Given the description of an element on the screen output the (x, y) to click on. 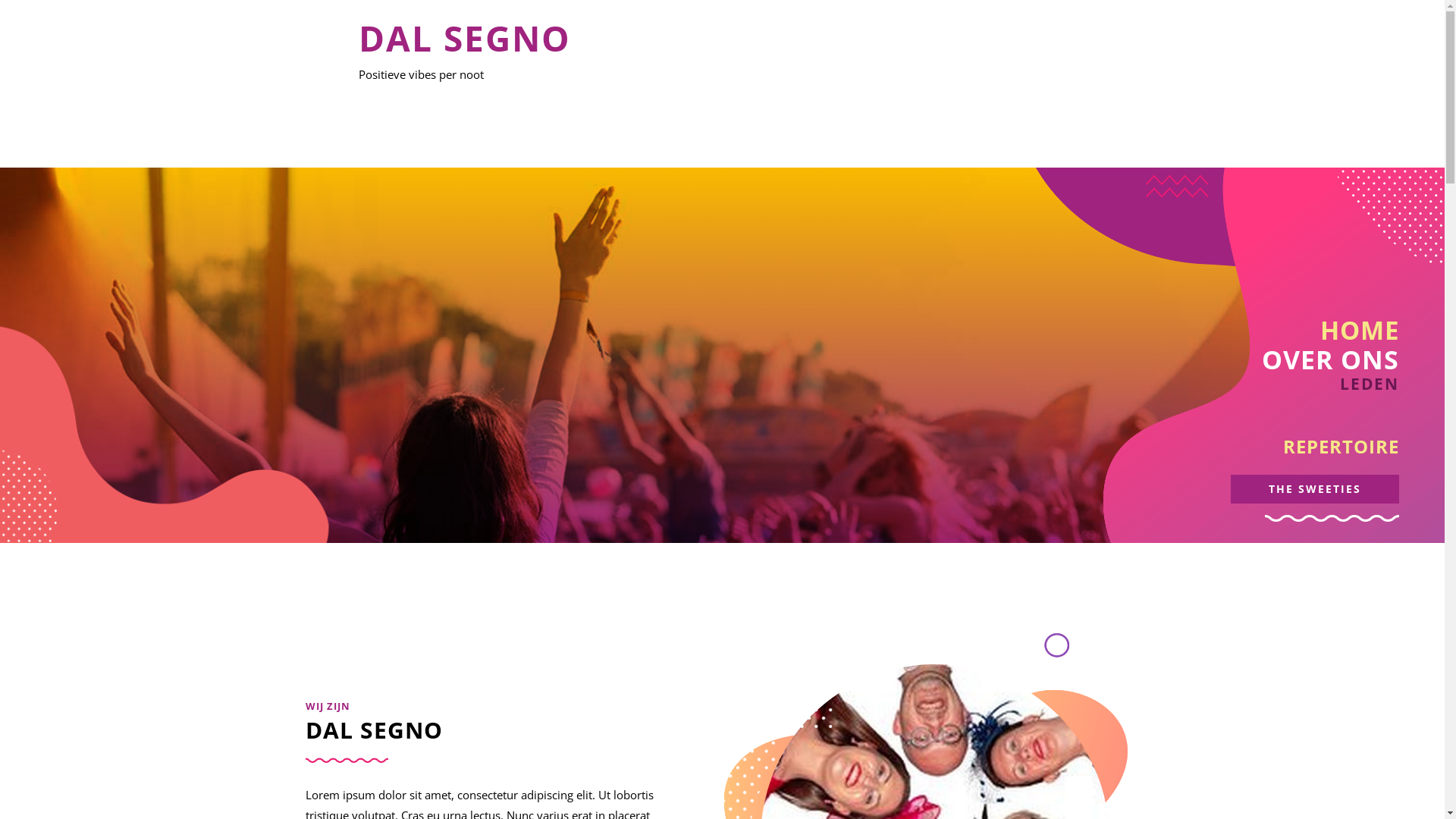
THE SWEETIES Element type: text (1314, 488)
DAL SEGNO Element type: text (463, 37)
